Given the description of an element on the screen output the (x, y) to click on. 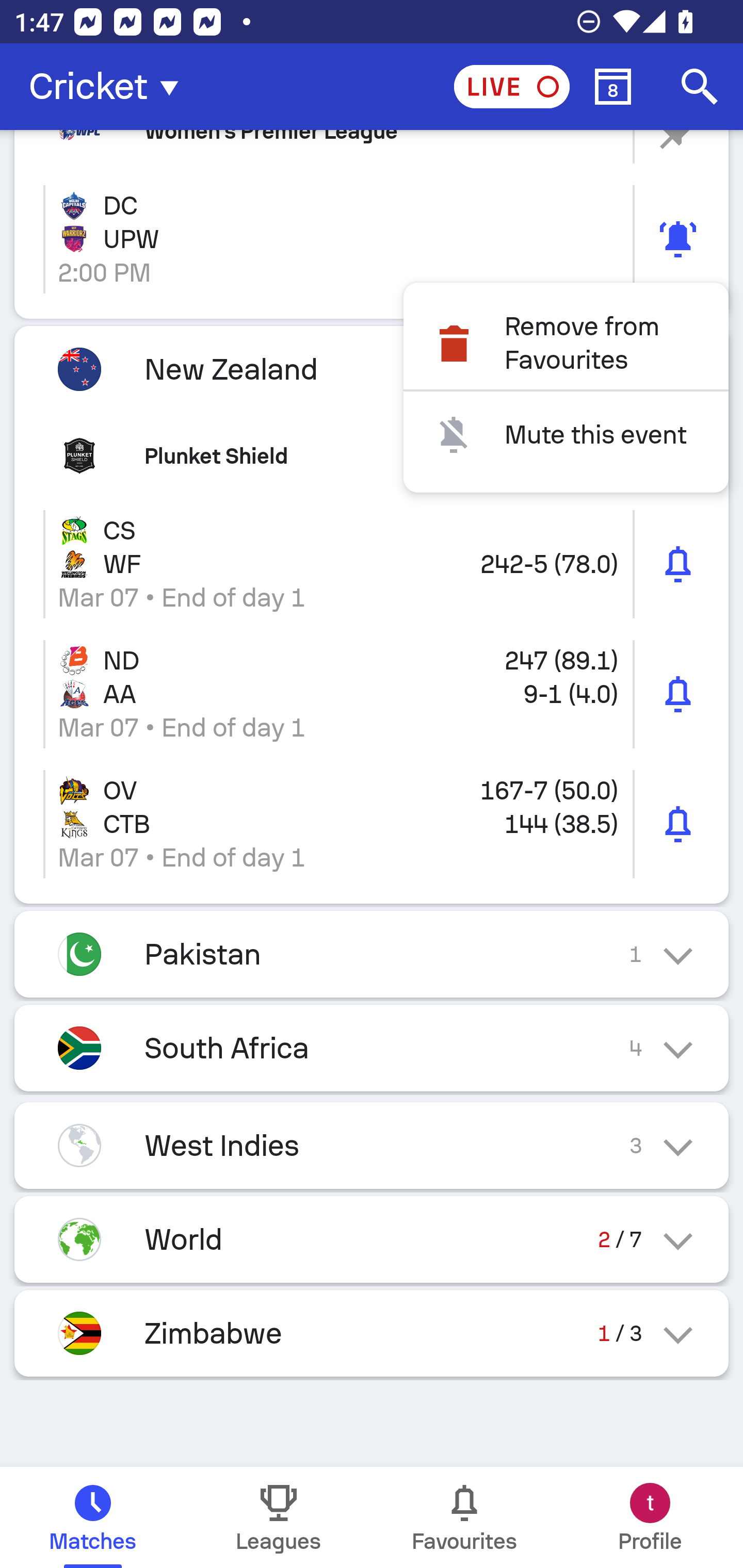
Remove from Favourites (565, 342)
Mute this event (565, 435)
